Given the description of an element on the screen output the (x, y) to click on. 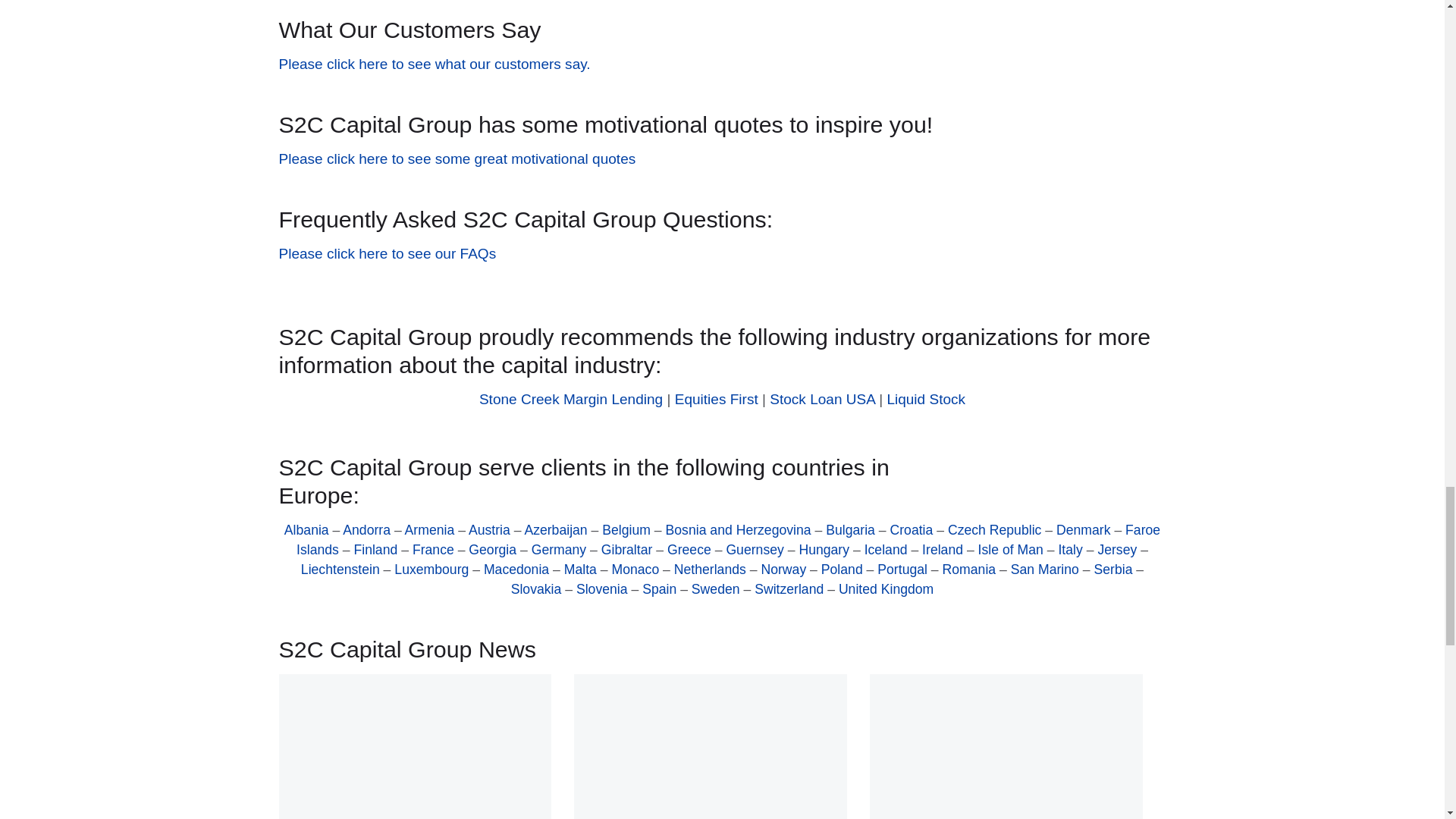
Please click here to see our FAQs (387, 253)
Please click here to see some great motivational quotes (457, 158)
Europe: (722, 495)
Stone Creek Margin Lending (570, 399)
Liquid Stock (925, 399)
Please click here to see what our customers say. (435, 64)
Stock Loan USA (822, 399)
Equities First (716, 399)
